Given the description of an element on the screen output the (x, y) to click on. 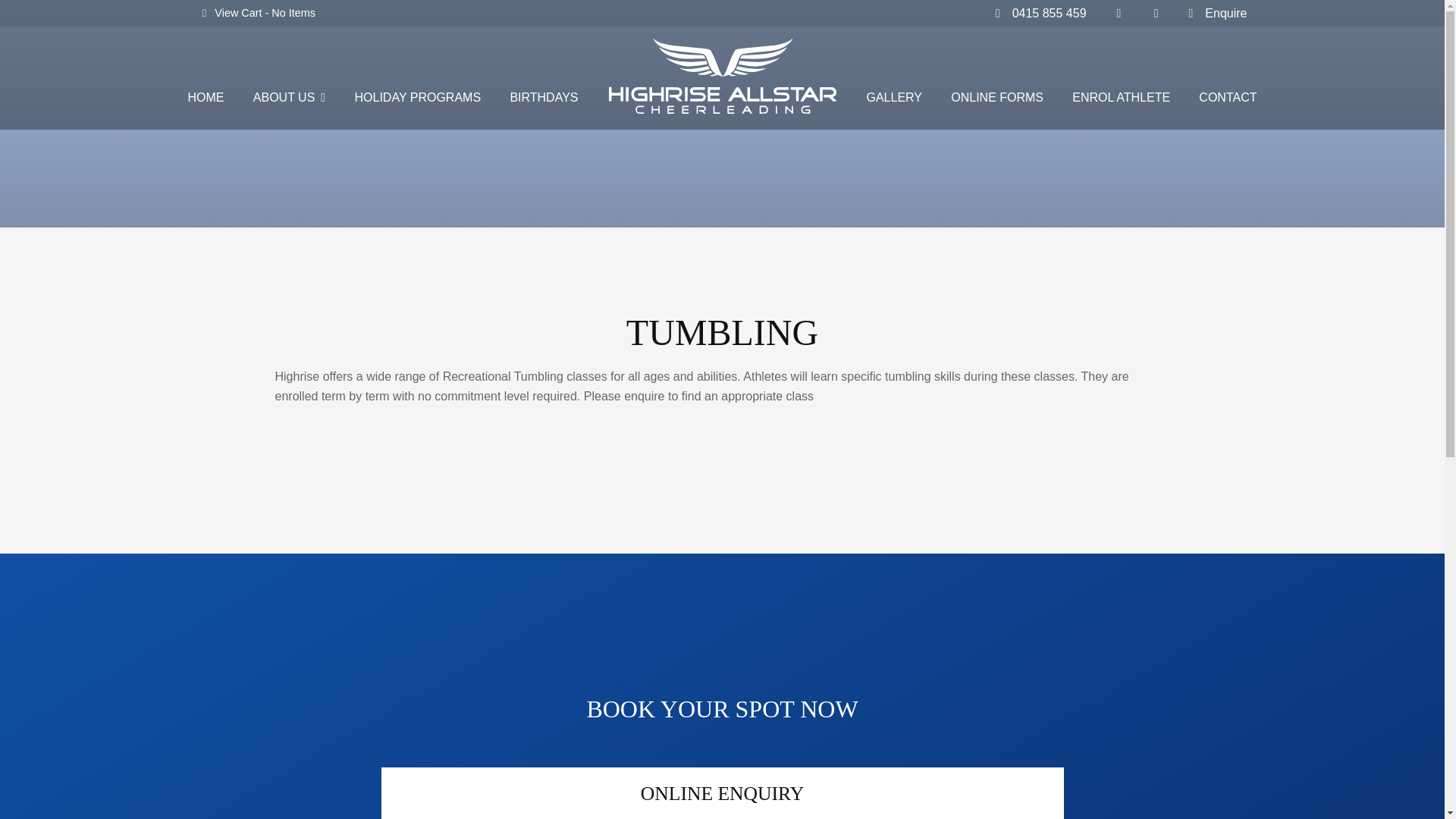
ENROL ATHLETE Element type: text (1120, 98)
CONTACT Element type: text (1227, 98)
ABOUT US Element type: text (288, 98)
HOLIDAY PROGRAMS Element type: text (418, 98)
ONLINE FORMS Element type: text (997, 98)
HOME Element type: text (206, 98)
Enquire Element type: text (1214, 13)
GALLERY Element type: text (893, 98)
BIRTHDAYS Element type: text (543, 98)
View Cart - No Items Element type: text (258, 12)
